Given the description of an element on the screen output the (x, y) to click on. 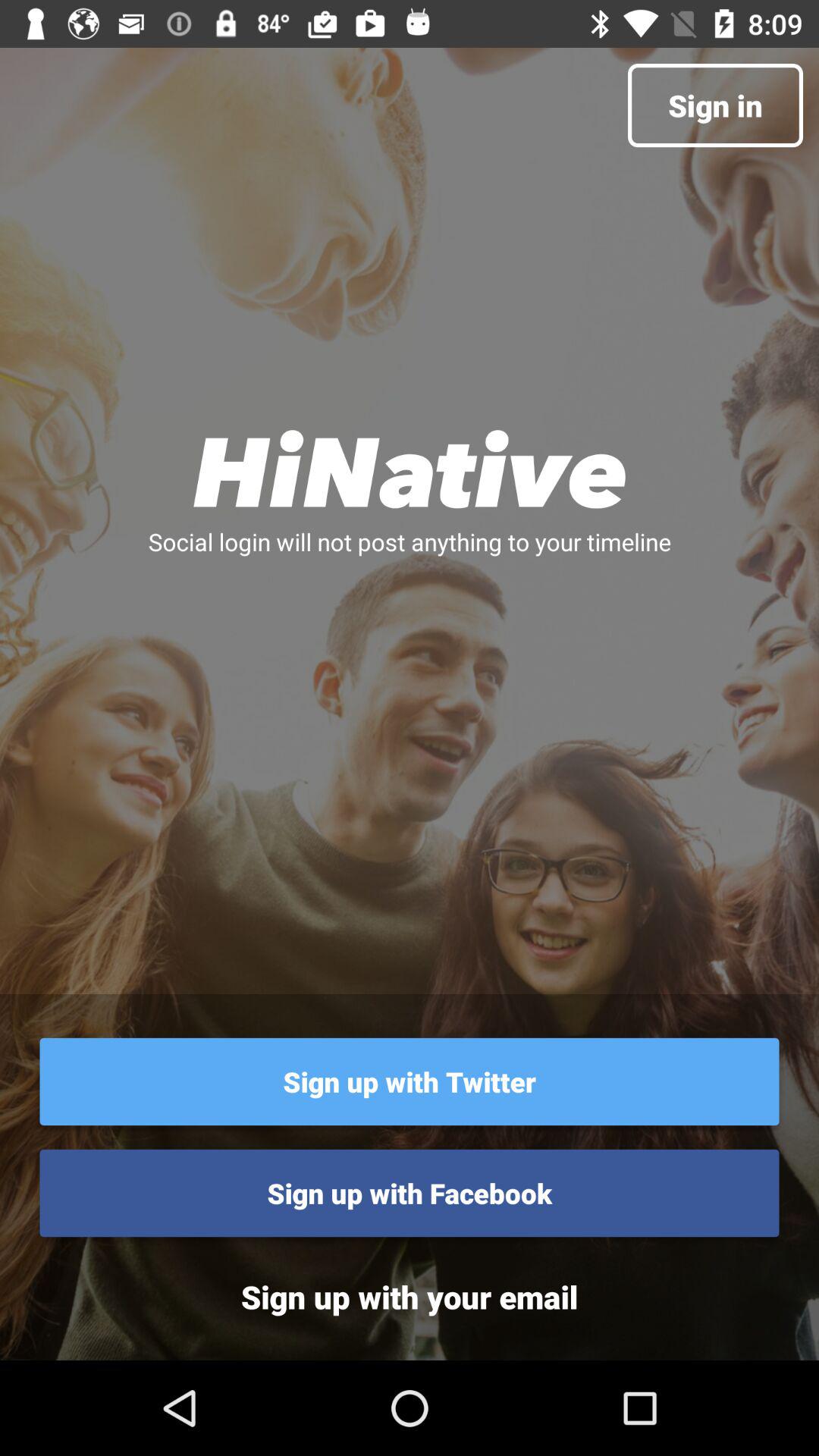
turn on sign in icon (715, 105)
